Given the description of an element on the screen output the (x, y) to click on. 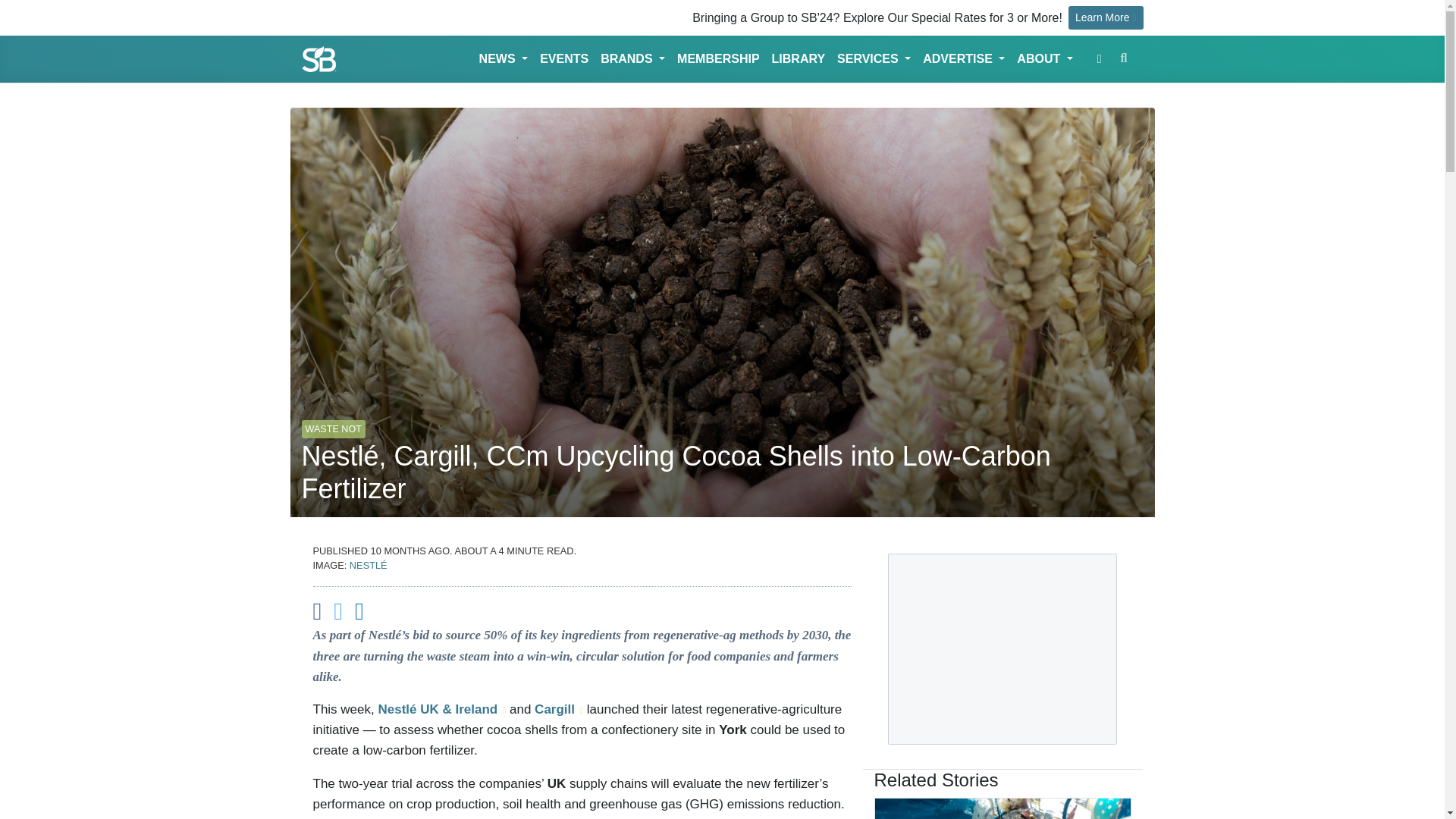
LIBRARY (798, 59)
ADVERTISE (963, 59)
SERVICES (874, 59)
NEWS (503, 59)
BRANDS (632, 59)
Cargill (558, 708)
ABOUT (1044, 59)
WASTE NOT (333, 422)
3rd party ad content (1002, 648)
Learn More (1105, 17)
EVENTS (564, 59)
MEMBERSHIP (718, 59)
